Given the description of an element on the screen output the (x, y) to click on. 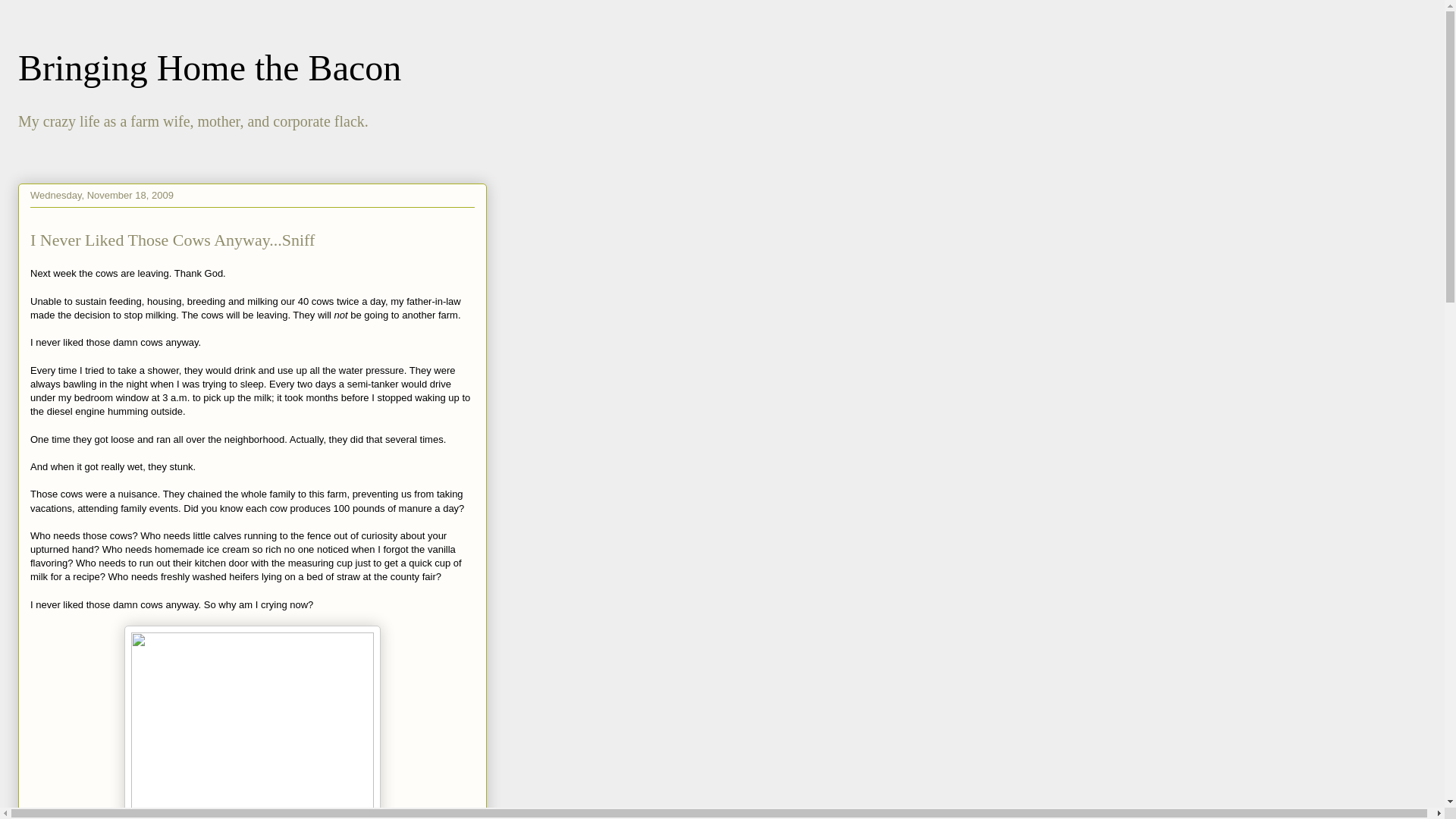
Bringing Home the Bacon (209, 67)
